Given the description of an element on the screen output the (x, y) to click on. 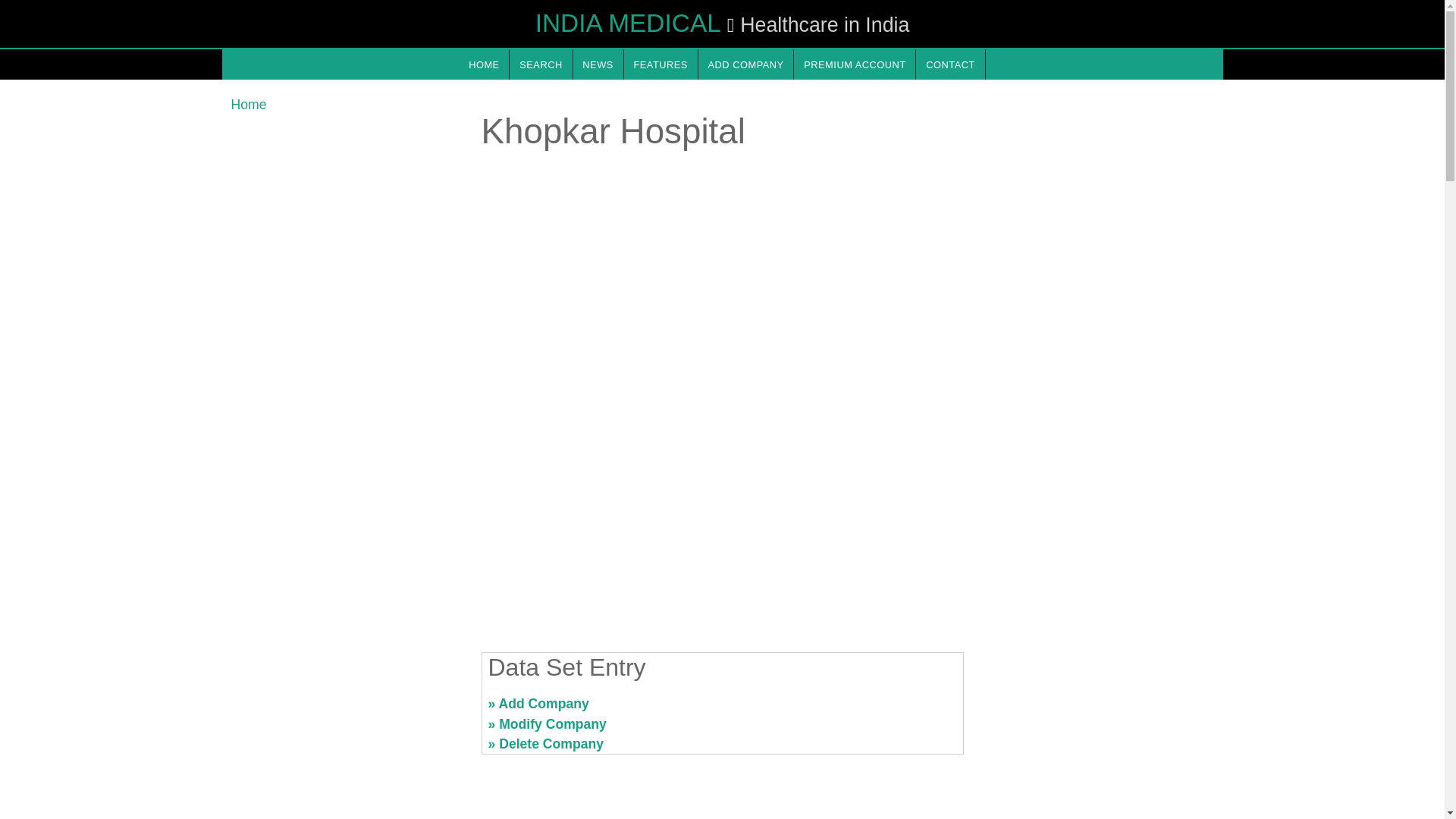
ADD COMPANY (745, 64)
FEATURES (660, 64)
HOME (483, 64)
Premium account (854, 64)
CONTACT (949, 64)
Home (248, 104)
PREMIUM ACCOUNT (854, 64)
Advertisement (721, 522)
Search in this webseite. (540, 64)
Advertisement (346, 710)
Advertisement (1096, 710)
INDIA MEDICAL (627, 22)
NEWS (598, 64)
Add a new company (745, 64)
